Given the description of an element on the screen output the (x, y) to click on. 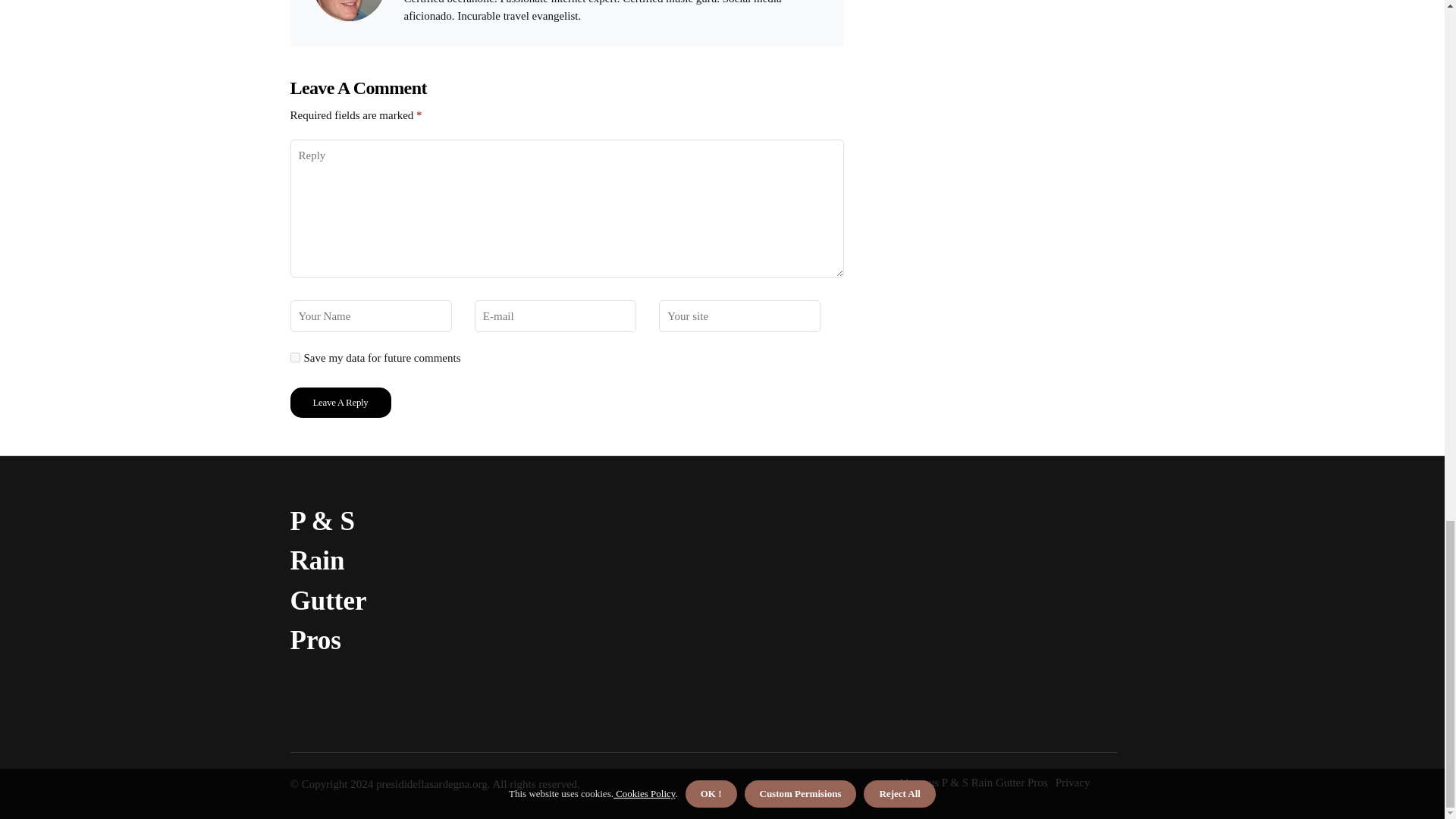
Leave a Reply (339, 402)
yes (294, 357)
Leave a Reply (339, 402)
